Given the description of an element on the screen output the (x, y) to click on. 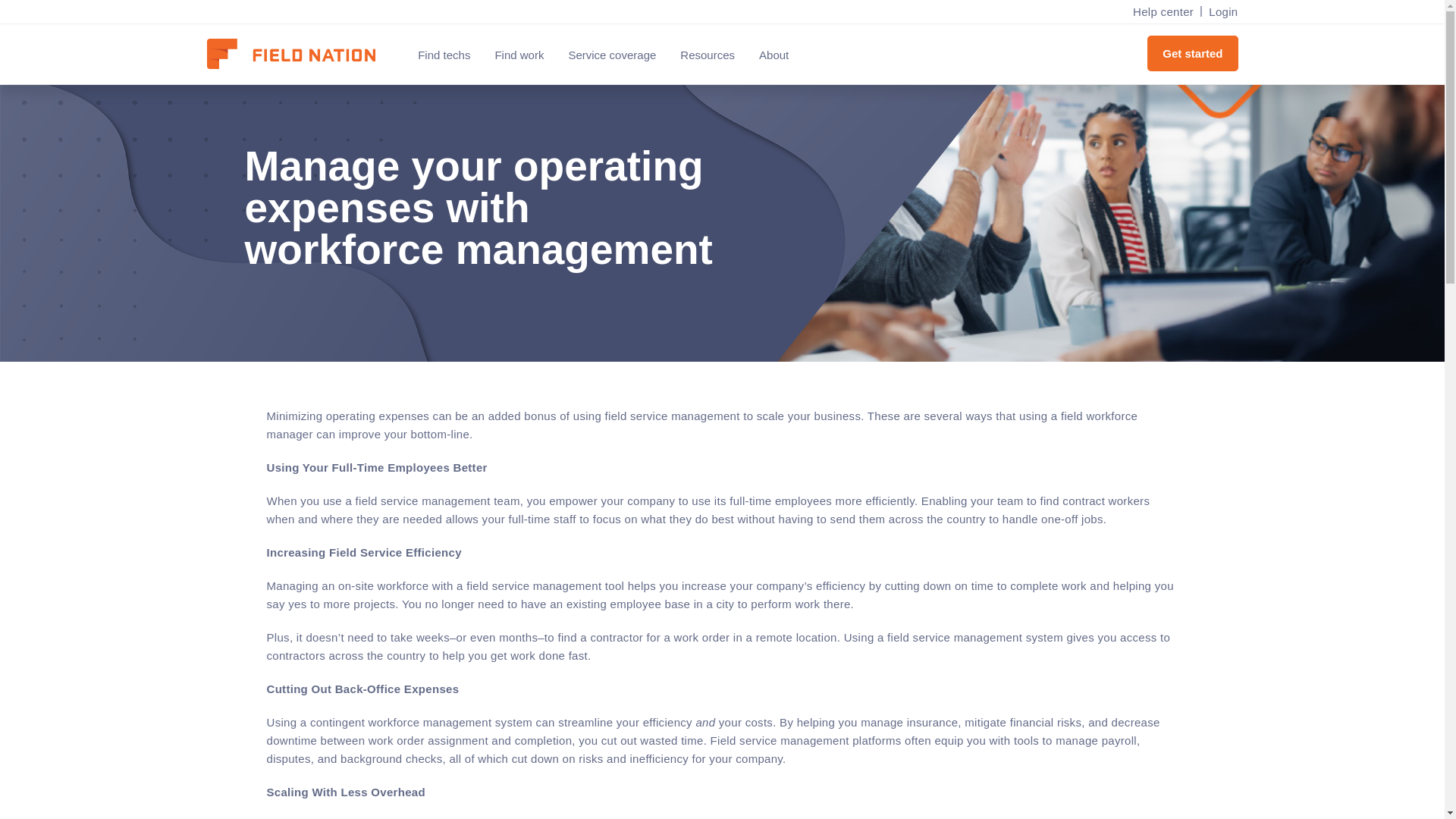
Help center (1162, 11)
Find work (518, 54)
Find techs (443, 54)
Login (1219, 11)
Login (1219, 11)
Service coverage (612, 54)
Help center (1162, 11)
Resources (707, 54)
Field Nation Homepage (298, 54)
